Given the description of an element on the screen output the (x, y) to click on. 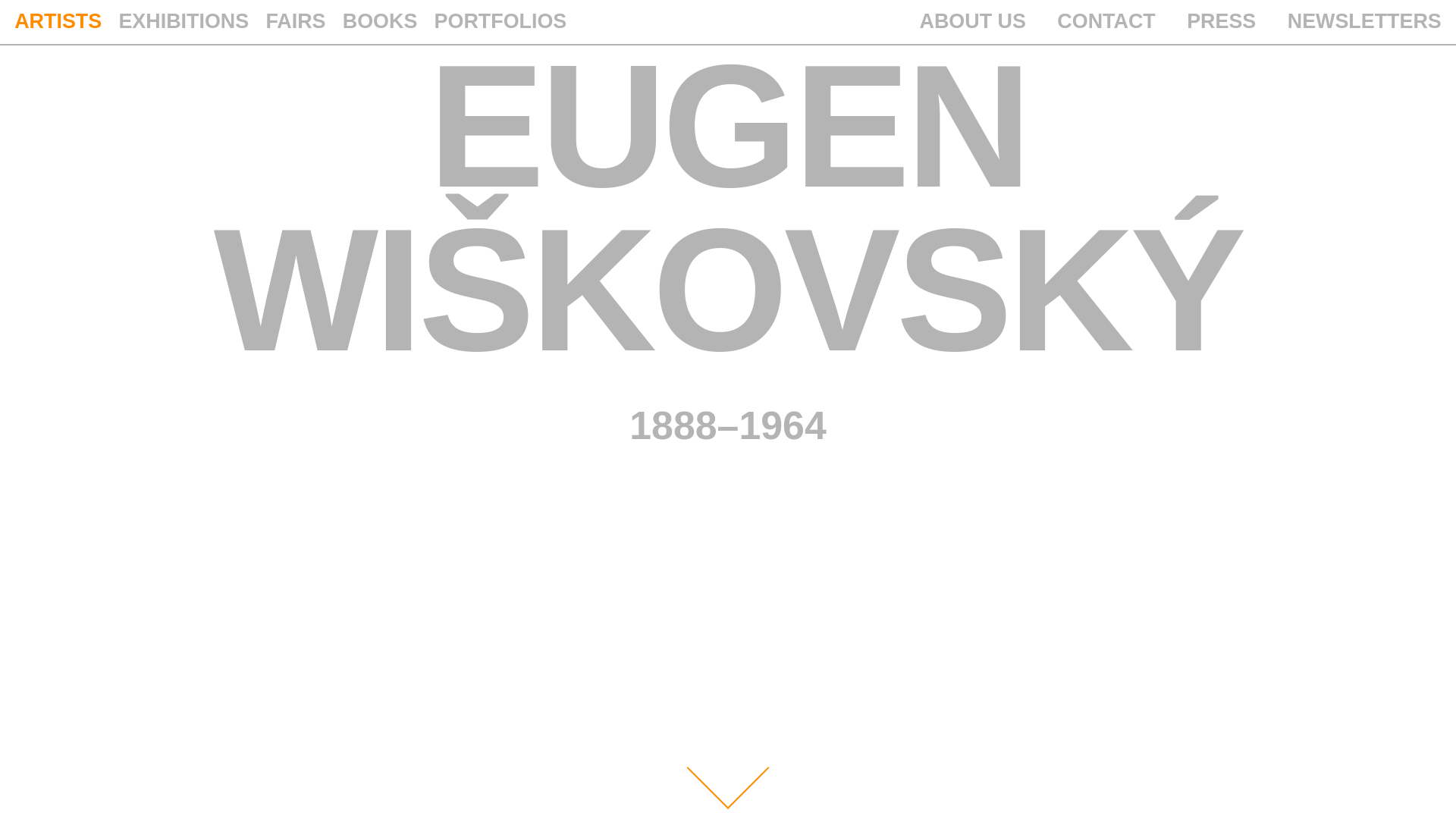
PRESS (1220, 20)
NEWSLETTERS (1364, 20)
ABOUT US (973, 20)
ARTISTS (57, 20)
PORTFOLIOS (500, 20)
CONTACT (1105, 20)
BOOKS (379, 20)
EXHIBITIONS (182, 20)
FAIRS (294, 20)
